Given the description of an element on the screen output the (x, y) to click on. 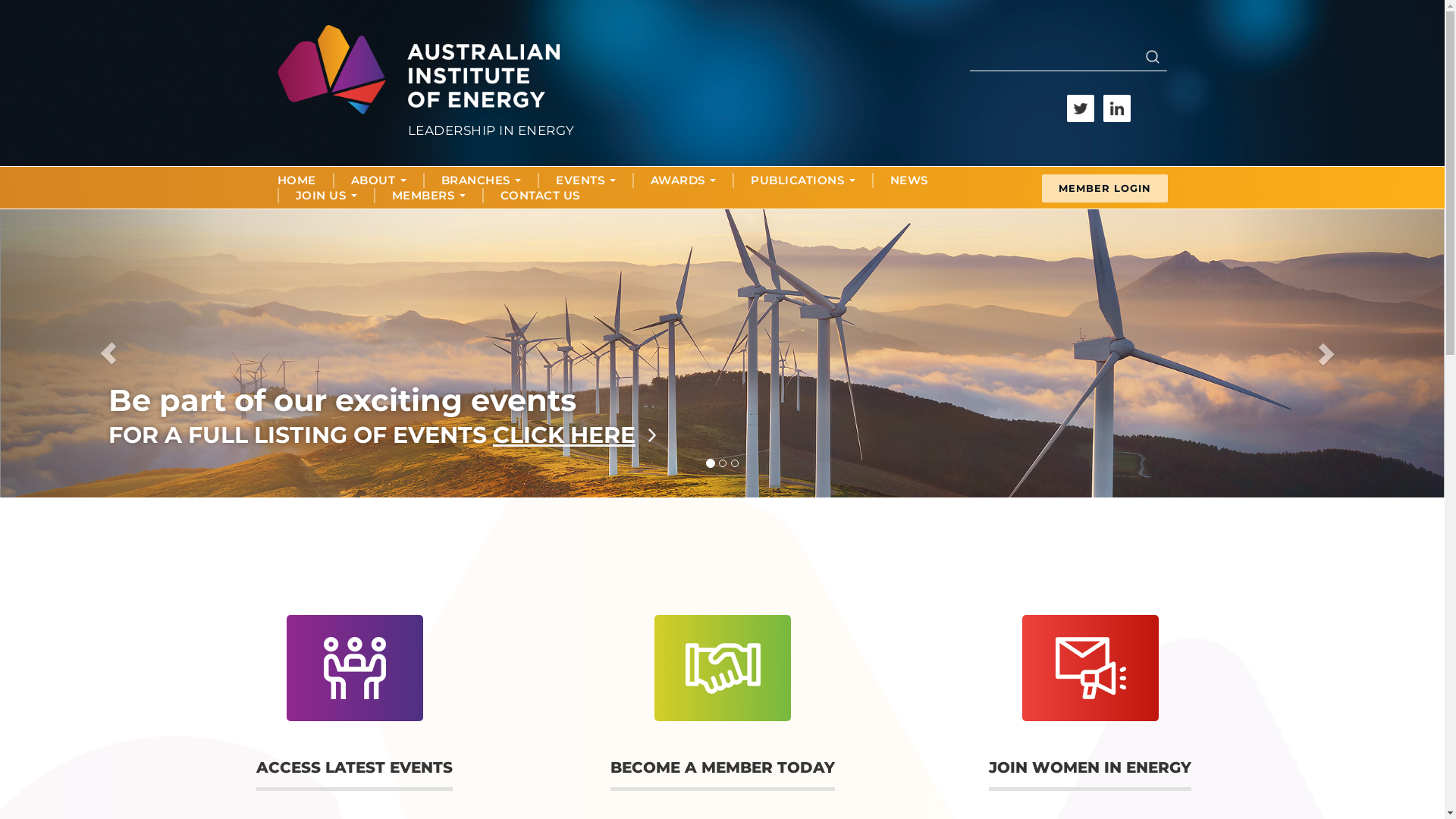
fill-module Element type: text (1089, 702)
AWARDS Element type: text (683, 180)
fill-module Element type: text (721, 702)
MEMBERS Element type: text (427, 195)
EVENTS Element type: text (585, 180)
MEMBER LOGIN Element type: text (1104, 188)
CONTACT US Element type: text (540, 195)
HERE Element type: text (499, 434)
JOIN US Element type: text (326, 195)
BRANCHES Element type: text (481, 180)
NEWS Element type: text (909, 180)
PUBLICATIONS Element type: text (802, 180)
ABOUT Element type: text (377, 180)
HOME Element type: text (296, 180)
fill-module Element type: text (354, 702)
